Given the description of an element on the screen output the (x, y) to click on. 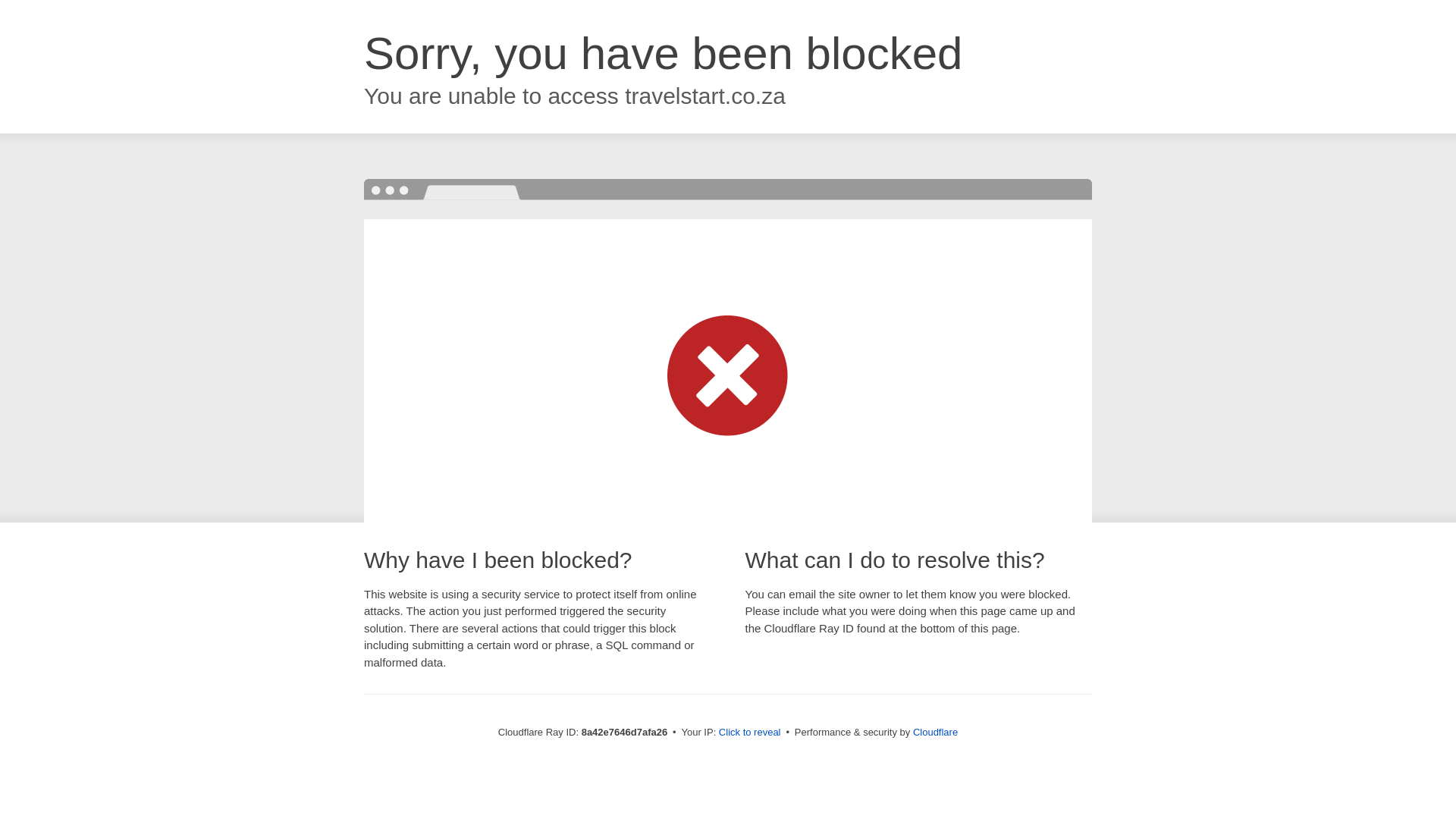
Click to reveal (749, 732)
Cloudflare (935, 731)
